Given the description of an element on the screen output the (x, y) to click on. 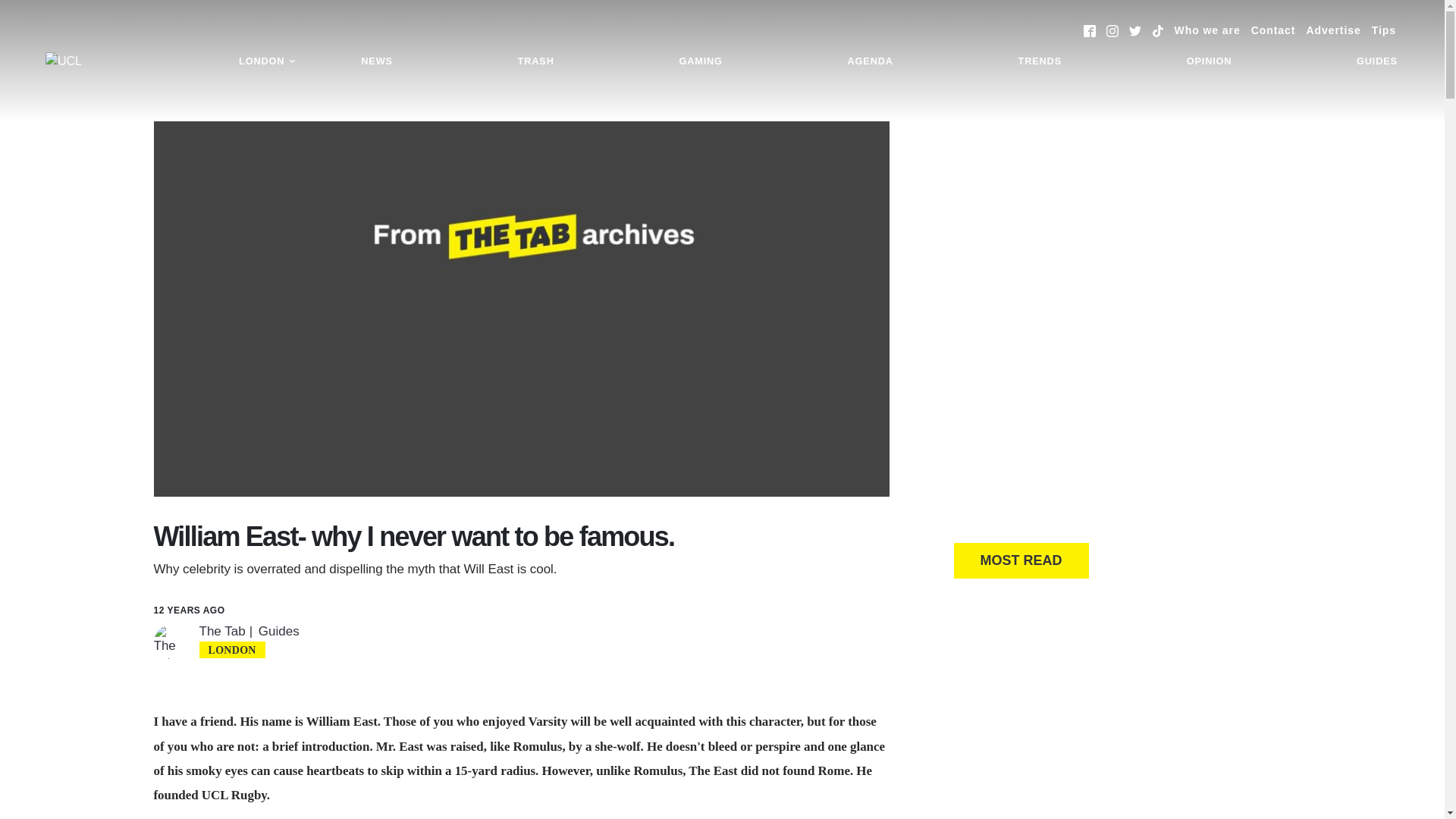
Tips (1383, 29)
NEWS (376, 61)
TRASH (536, 61)
GUIDES (1377, 61)
Who we are (1207, 29)
Advertise (1332, 29)
AGENDA (869, 61)
Contact (1272, 29)
TRENDS (1040, 61)
LONDON (267, 61)
